Given the description of an element on the screen output the (x, y) to click on. 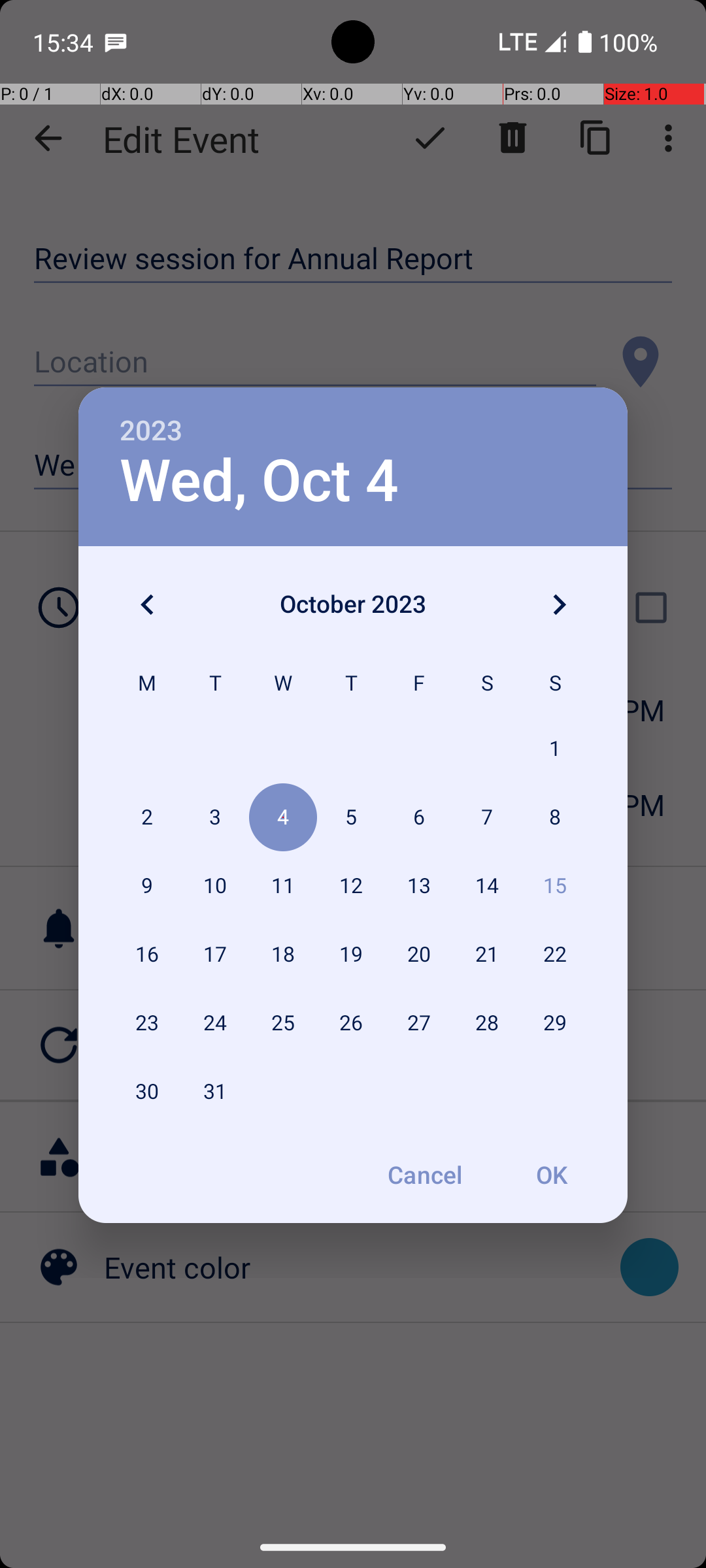
Wed, Oct 4 Element type: android.widget.TextView (258, 480)
